Given the description of an element on the screen output the (x, y) to click on. 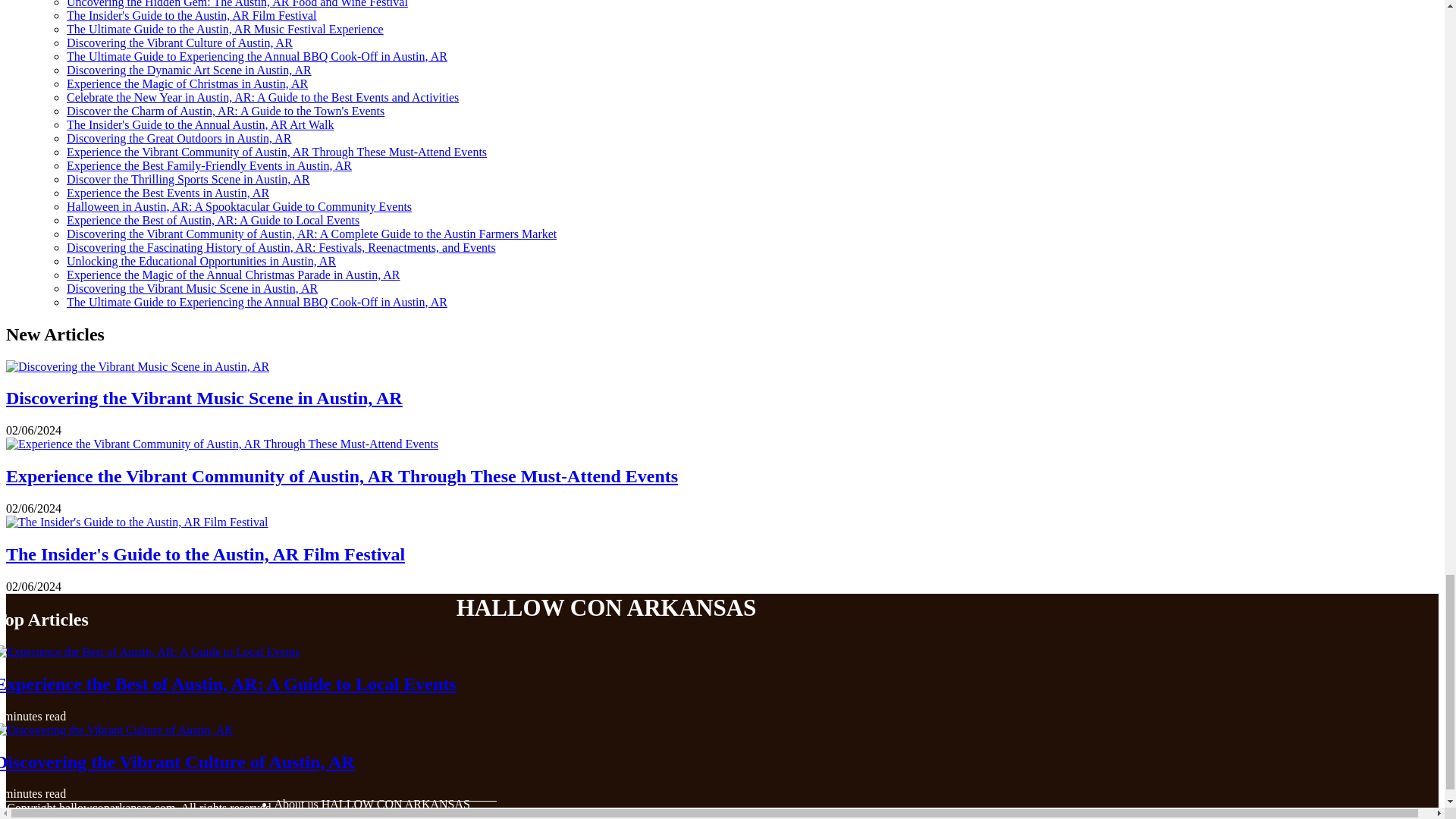
The Insider's Guide to the Austin, AR Film Festival (191, 15)
Discovering the Vibrant Culture of Austin, AR (179, 42)
